Given the description of an element on the screen output the (x, y) to click on. 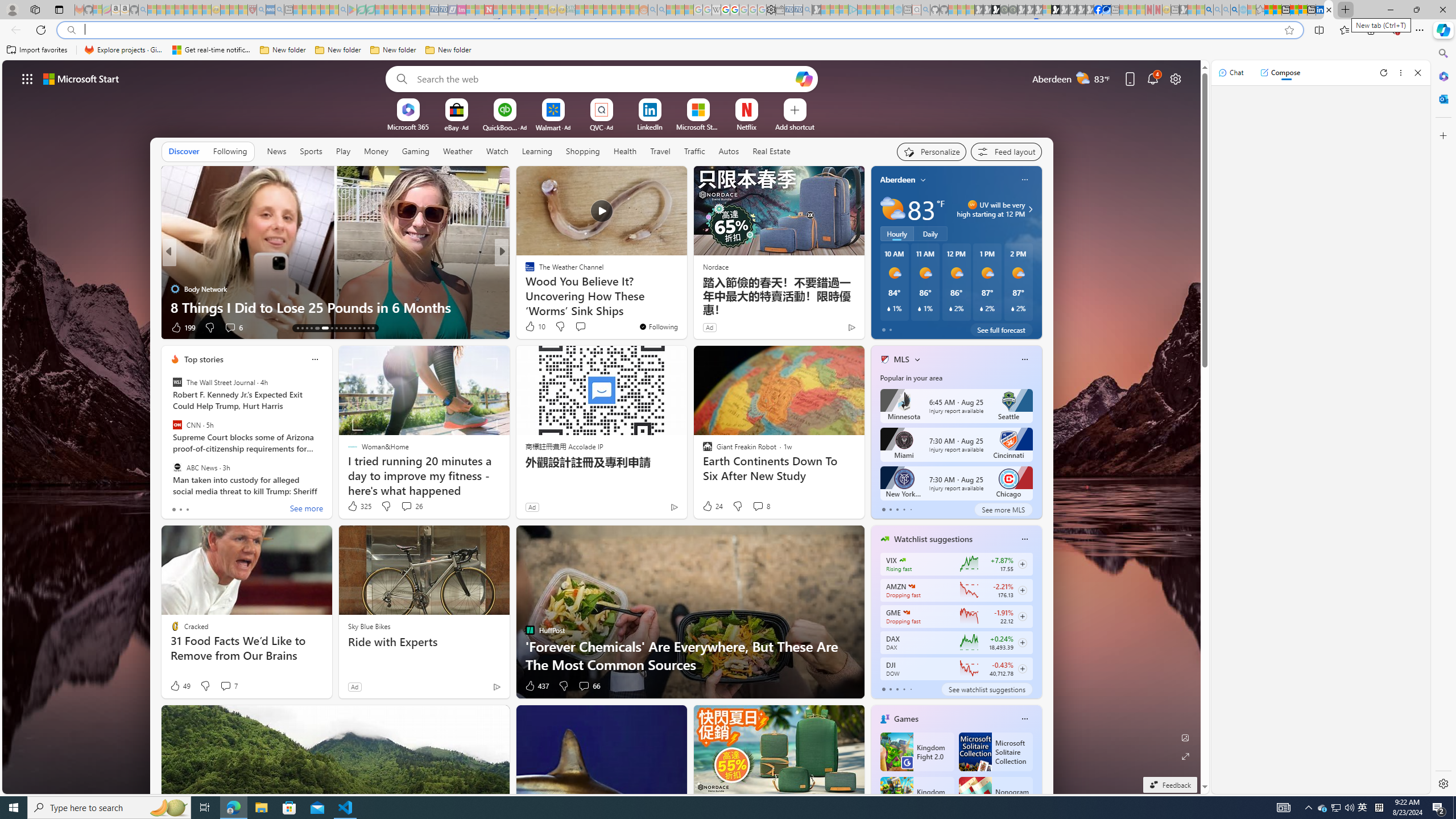
887 Like (532, 327)
Personalize your feed" (931, 151)
Health (624, 151)
Expand background (1185, 756)
Forge of Empires (545, 288)
Partly sunny (892, 208)
View comments 2 Comment (580, 327)
Sports (310, 151)
